Given the description of an element on the screen output the (x, y) to click on. 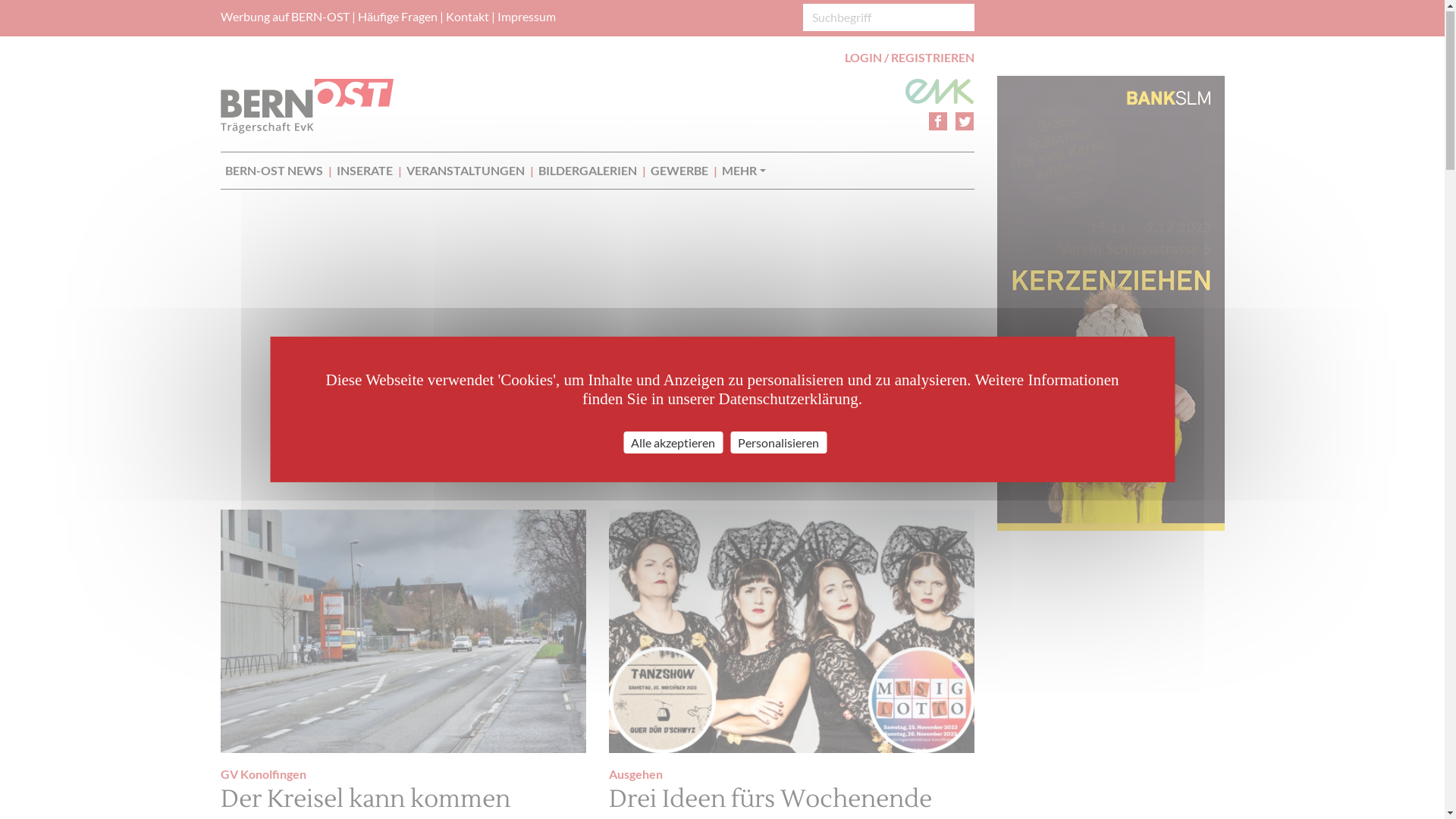
Alle akzeptieren Element type: text (672, 444)
BILDERGALERIEN Element type: text (586, 171)
VERANSTALTUNGEN Element type: text (464, 171)
BERN-OST NEWS Element type: text (272, 171)
Impressum Element type: text (526, 17)
GEWERBE Element type: text (678, 171)
MEHR Element type: text (742, 171)
INSERATE Element type: text (363, 171)
LOGIN / REGISTRIEREN Element type: text (909, 58)
Personalisieren Element type: text (778, 444)
Werbung auf BERN-OST Element type: text (283, 17)
Kontakt Element type: text (467, 17)
